Given the description of an element on the screen output the (x, y) to click on. 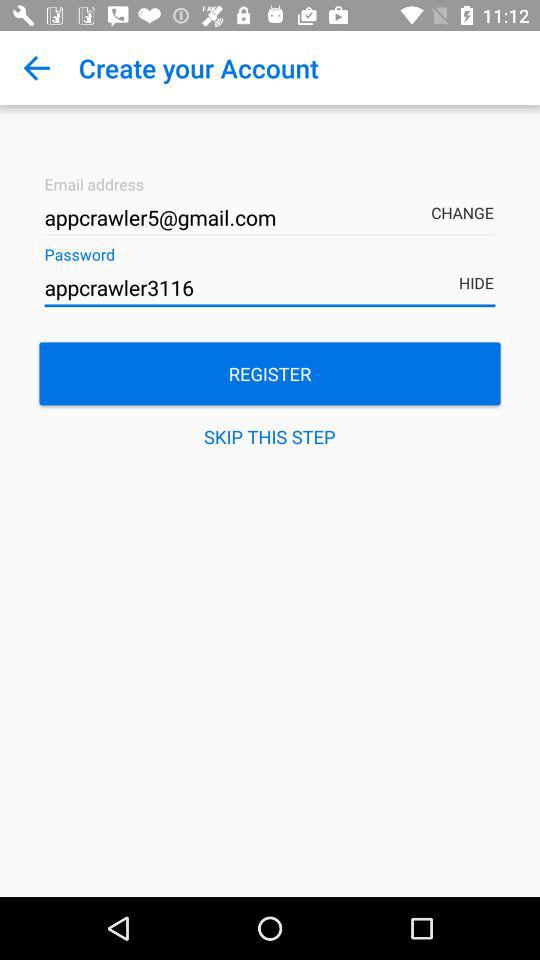
choose hide item (479, 269)
